Given the description of an element on the screen output the (x, y) to click on. 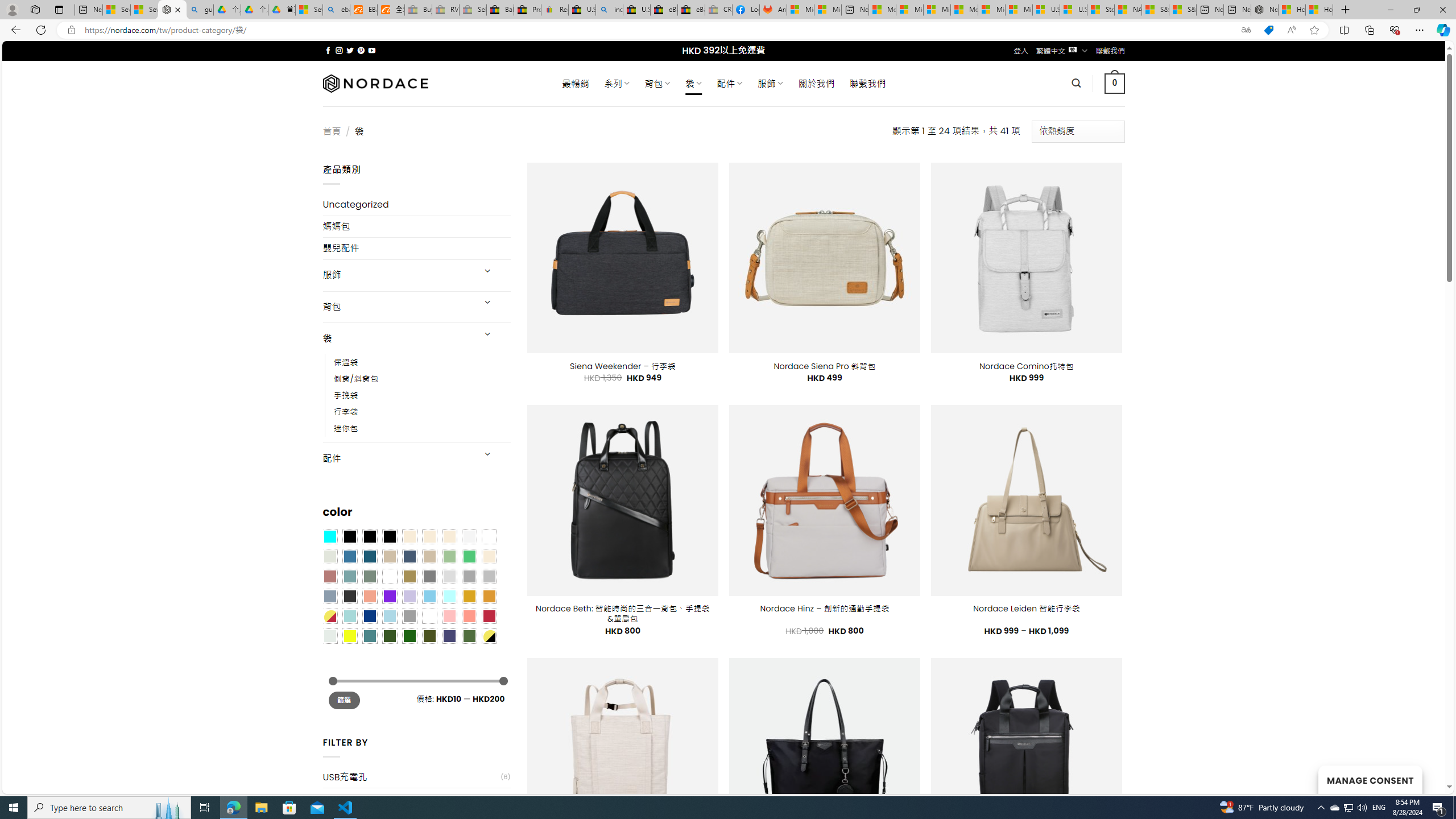
Register: Create a personal eBay account (554, 9)
